Given the description of an element on the screen output the (x, y) to click on. 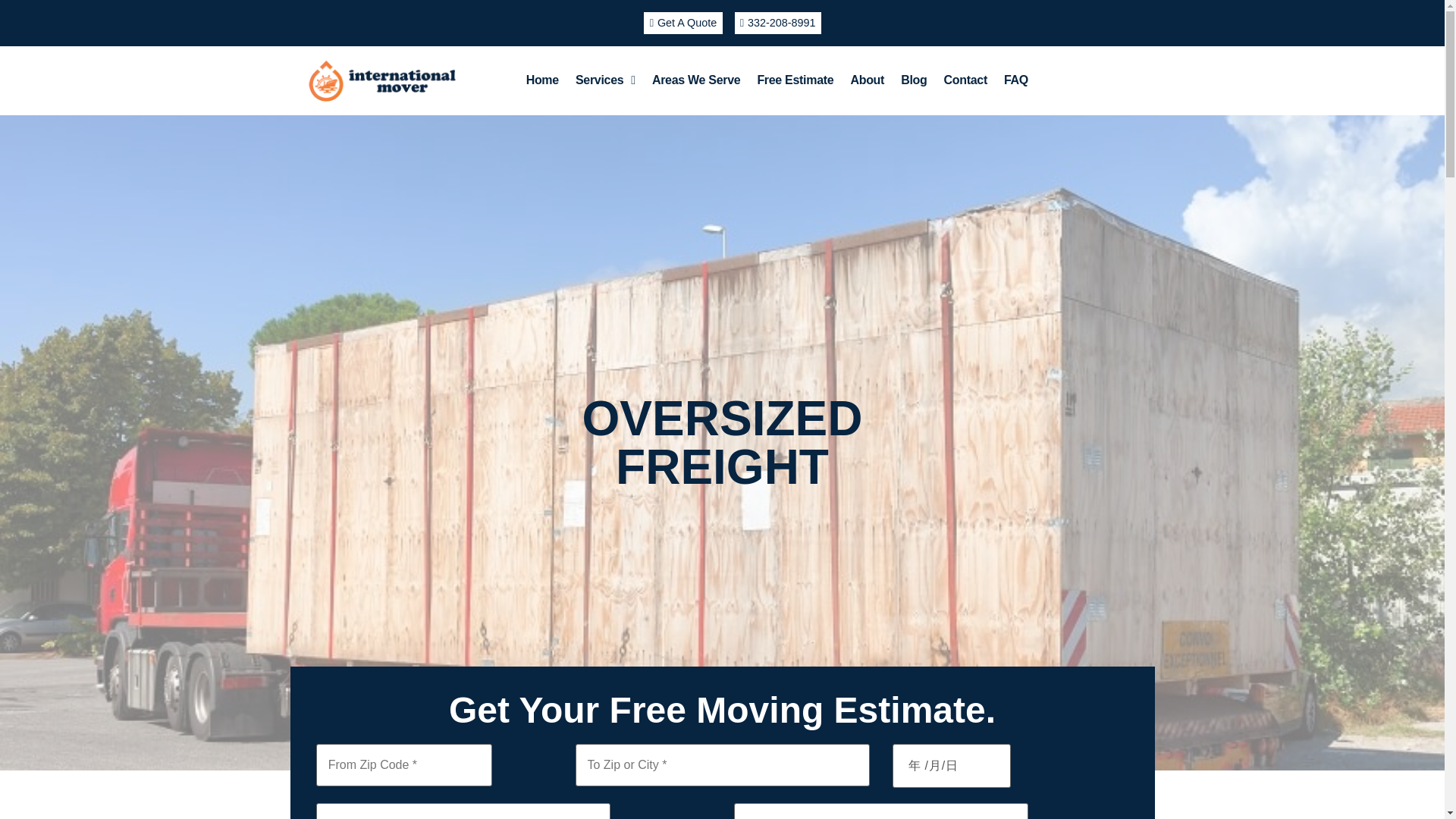
Services (605, 79)
332-208-8991 (777, 23)
Home (542, 79)
Contact (964, 79)
Get A Quote (682, 23)
Free Estimate (794, 79)
Areas We Serve (695, 79)
About (866, 79)
Blog (913, 79)
FAQ (1015, 79)
